Given the description of an element on the screen output the (x, y) to click on. 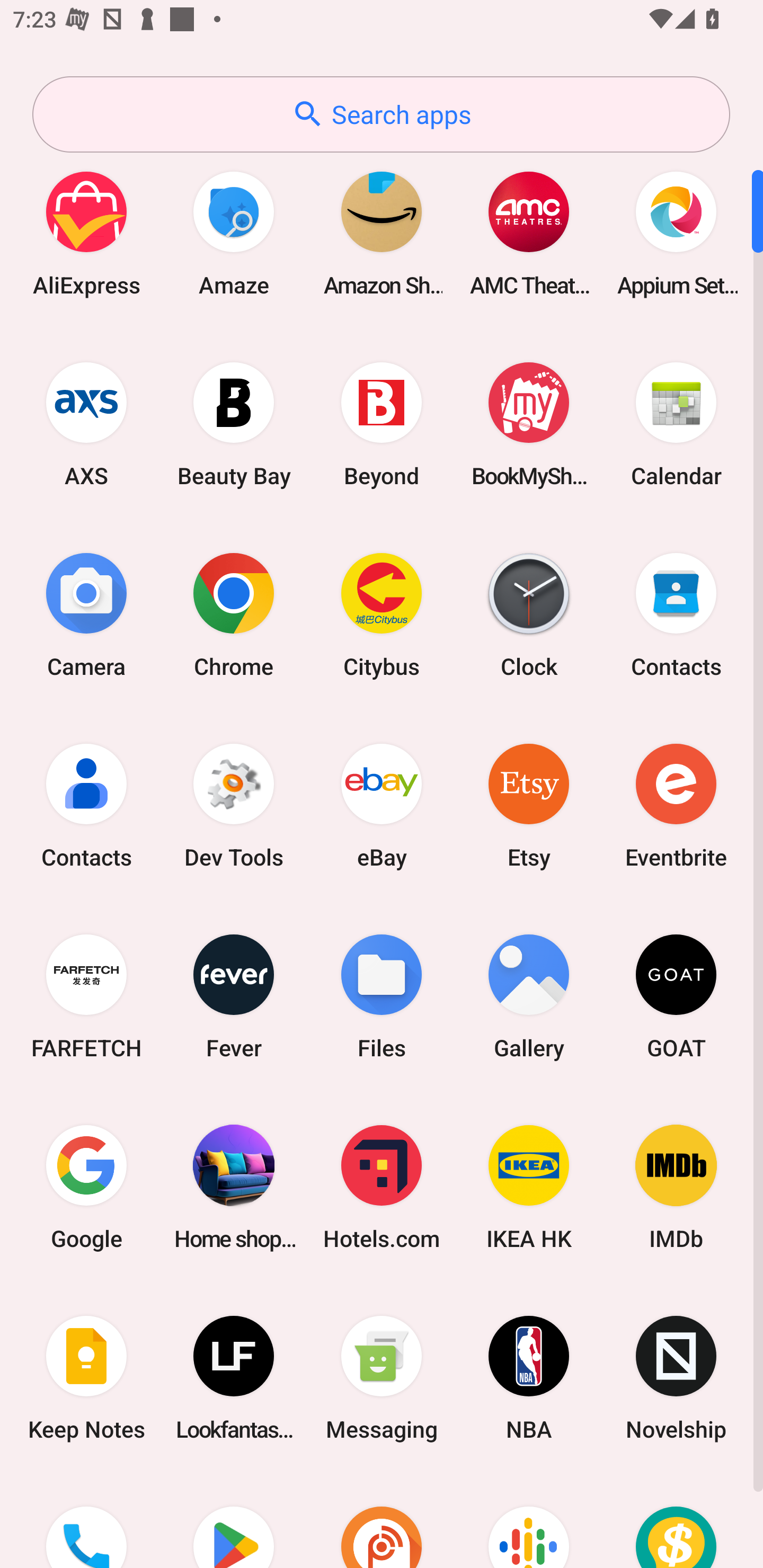
  Search apps (381, 114)
AliExpress (86, 233)
Amaze (233, 233)
Amazon Shopping (381, 233)
AMC Theatres (528, 233)
Appium Settings (676, 233)
AXS (86, 424)
Beauty Bay (233, 424)
Beyond (381, 424)
BookMyShow (528, 424)
Calendar (676, 424)
Camera (86, 614)
Chrome (233, 614)
Citybus (381, 614)
Clock (528, 614)
Contacts (676, 614)
Contacts (86, 805)
Dev Tools (233, 805)
eBay (381, 805)
Etsy (528, 805)
Eventbrite (676, 805)
FARFETCH (86, 996)
Fever (233, 996)
Files (381, 996)
Gallery (528, 996)
GOAT (676, 996)
Google (86, 1186)
Home shopping (233, 1186)
Hotels.com (381, 1186)
IKEA HK (528, 1186)
IMDb (676, 1186)
Keep Notes (86, 1377)
Lookfantastic (233, 1377)
Messaging (381, 1377)
NBA (528, 1377)
Novelship (676, 1377)
Phone (86, 1520)
Play Store (233, 1520)
Podcast Addict (381, 1520)
Podcasts (528, 1520)
Price (676, 1520)
